Given the description of an element on the screen output the (x, y) to click on. 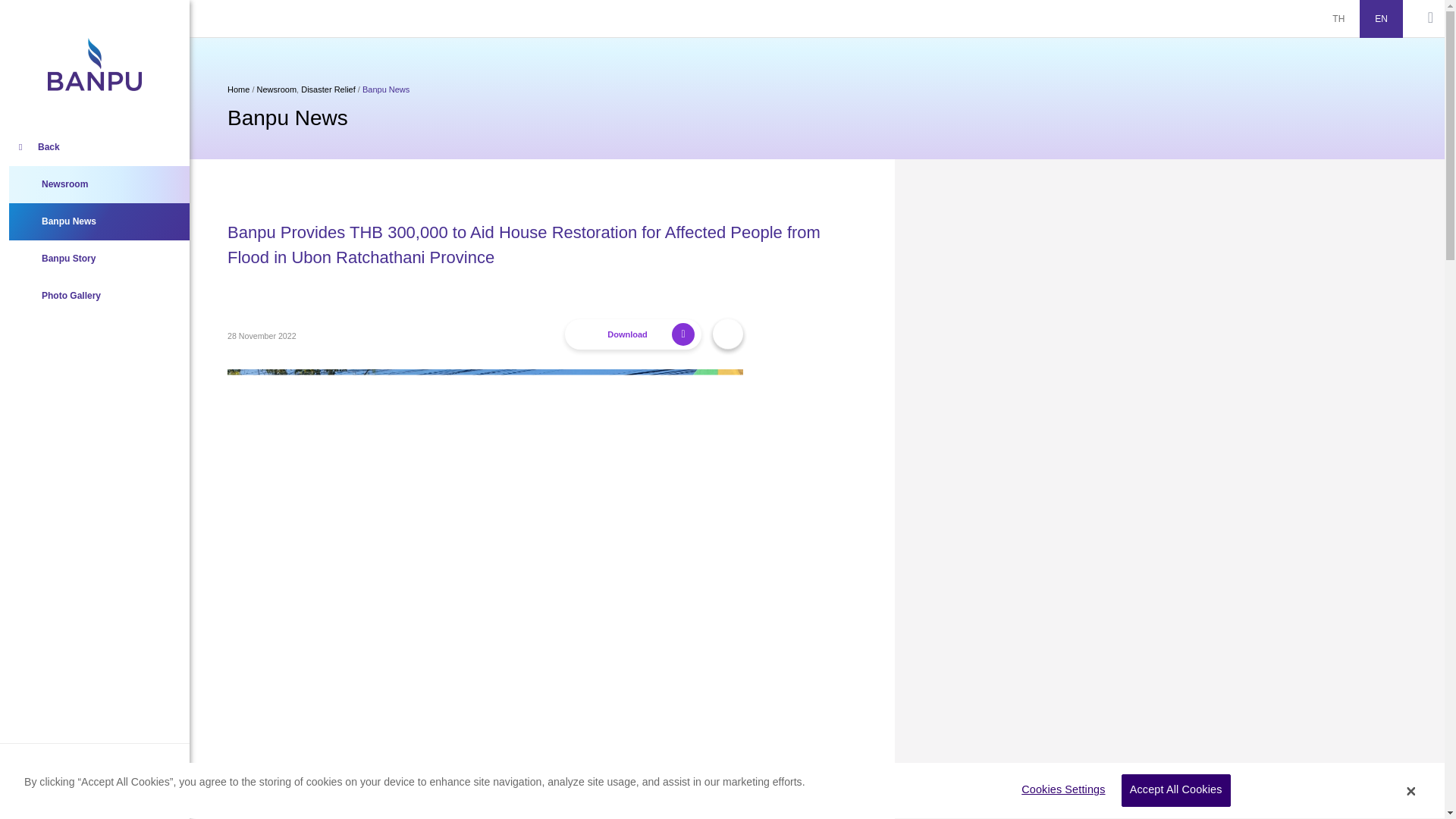
Go to the Disaster Relief tag archives. (328, 89)
Go to the CSR tag archives. (277, 89)
